Given the description of an element on the screen output the (x, y) to click on. 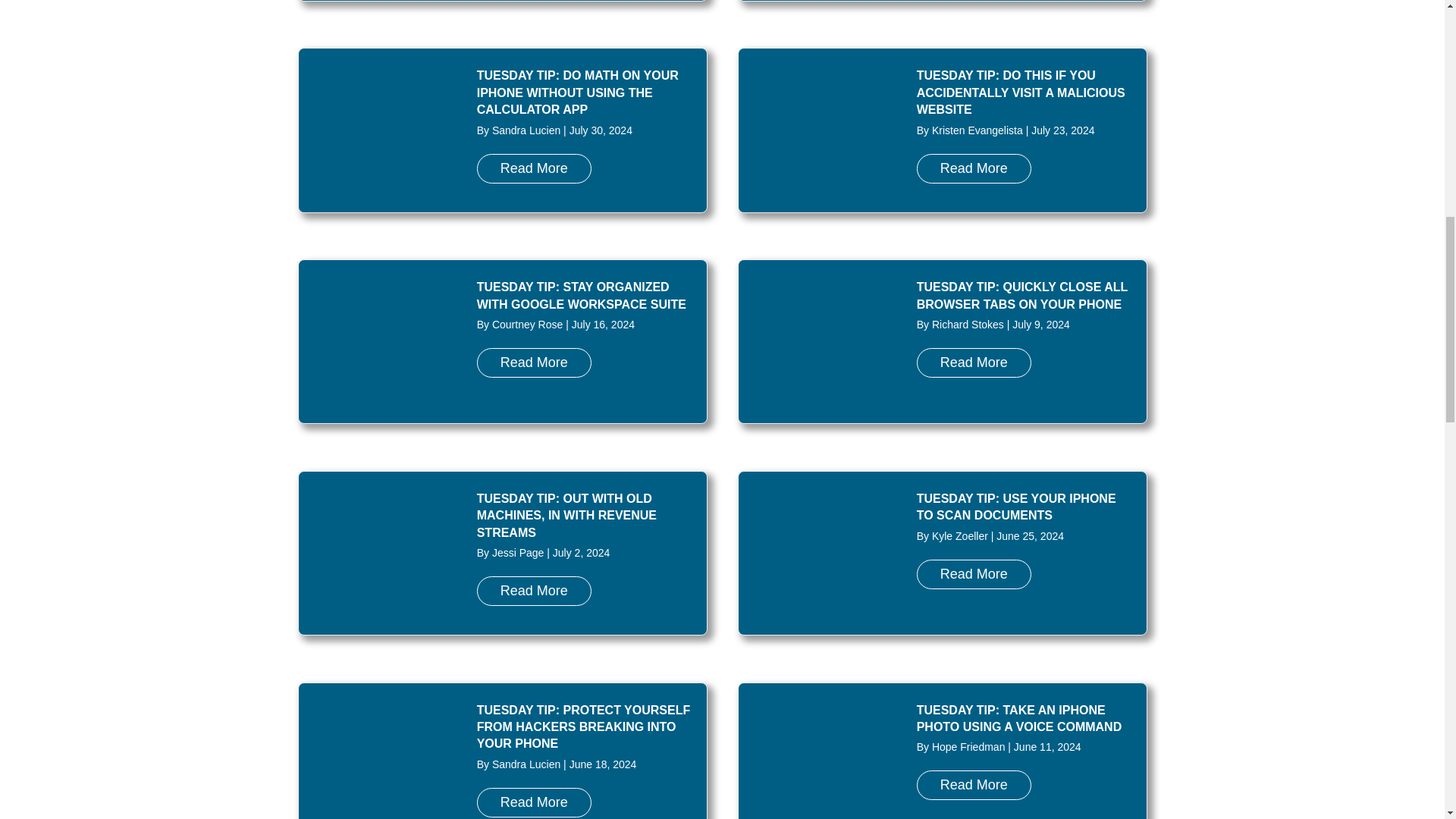
calculator (379, 129)
